Given the description of an element on the screen output the (x, y) to click on. 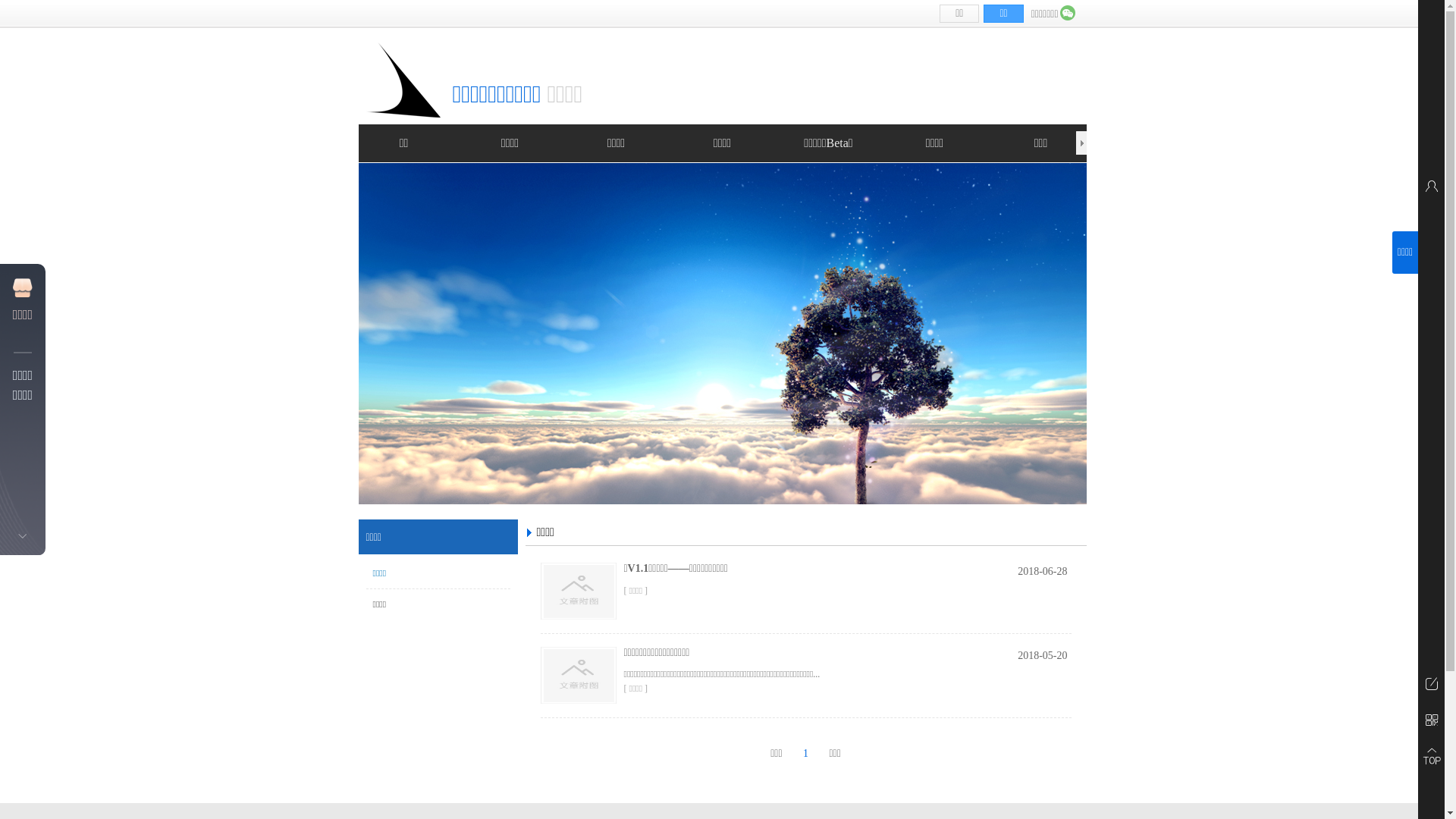
fkgg013 Element type: hover (401, 79)
